Given the description of an element on the screen output the (x, y) to click on. 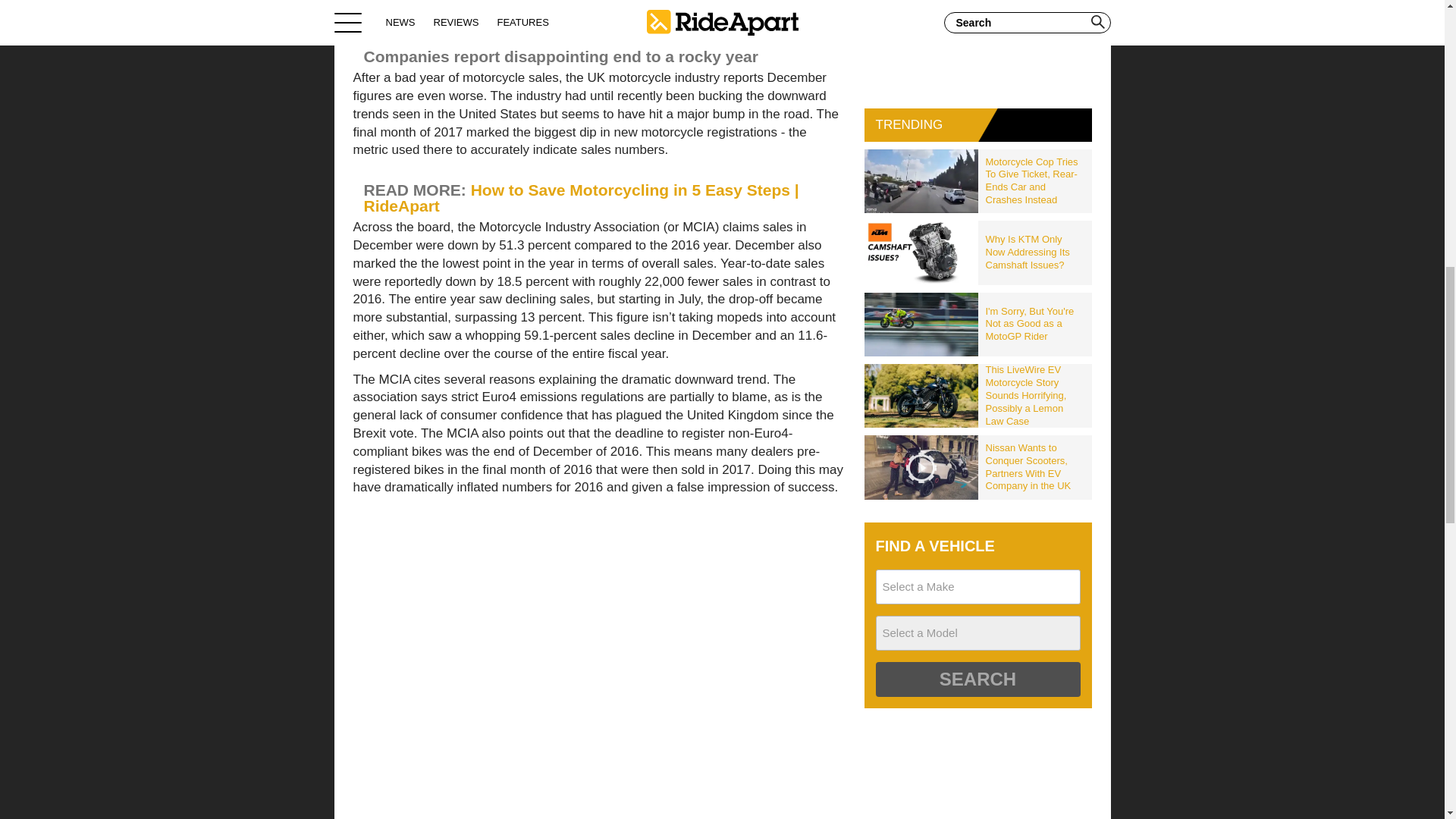
I'm Sorry, But You're Not as Good as a MotoGP Rider (1035, 324)
Search (977, 678)
Why Is KTM Only Now Addressing Its Camshaft Issues? (1035, 252)
